Given the description of an element on the screen output the (x, y) to click on. 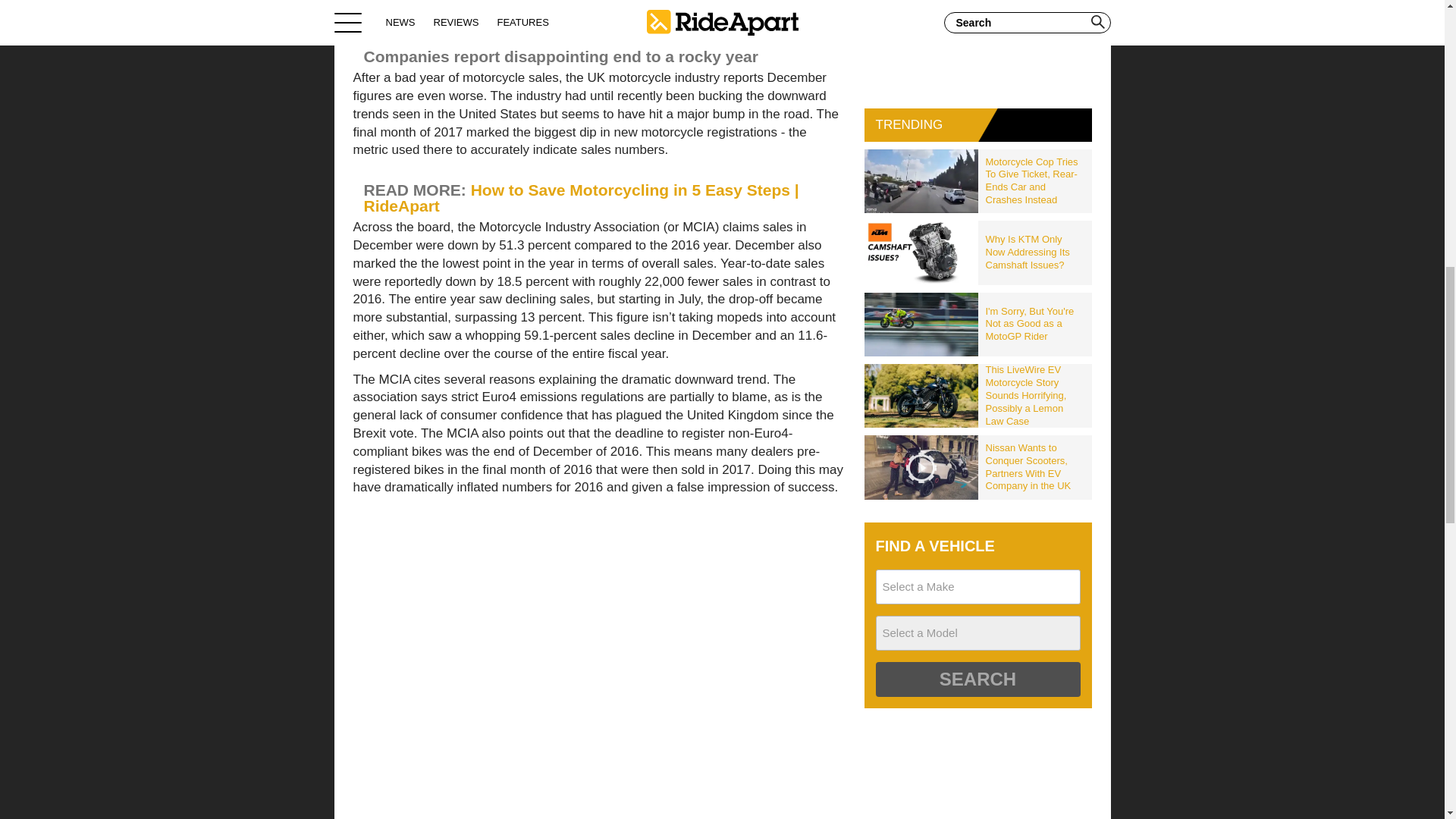
I'm Sorry, But You're Not as Good as a MotoGP Rider (1035, 324)
Search (977, 678)
Why Is KTM Only Now Addressing Its Camshaft Issues? (1035, 252)
